Given the description of an element on the screen output the (x, y) to click on. 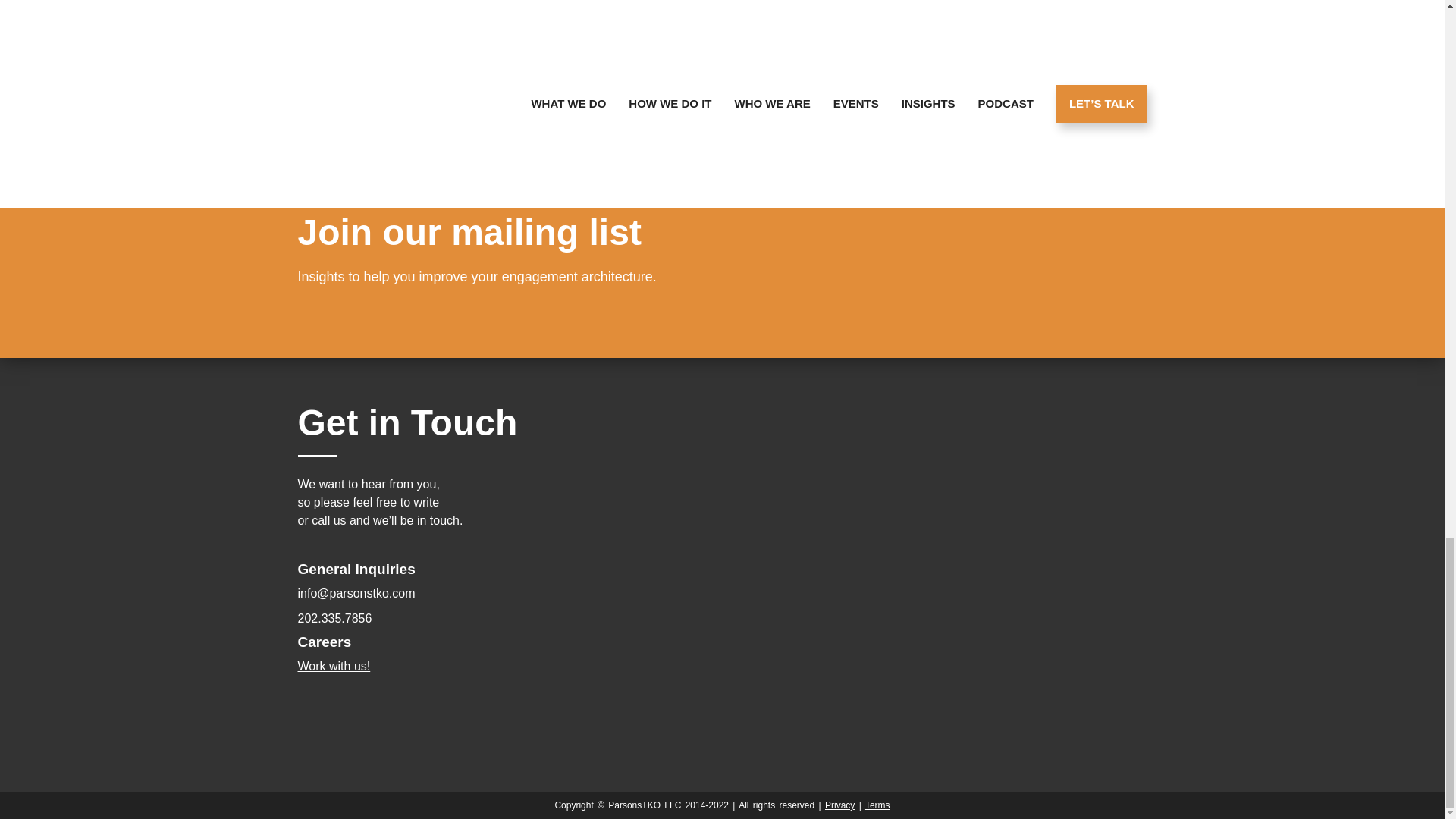
YouTube (336, 735)
Terms (876, 805)
Work with us! (333, 666)
Privacy (839, 805)
Terms (876, 805)
Linkedin (316, 735)
Privacy (839, 805)
